Given the description of an element on the screen output the (x, y) to click on. 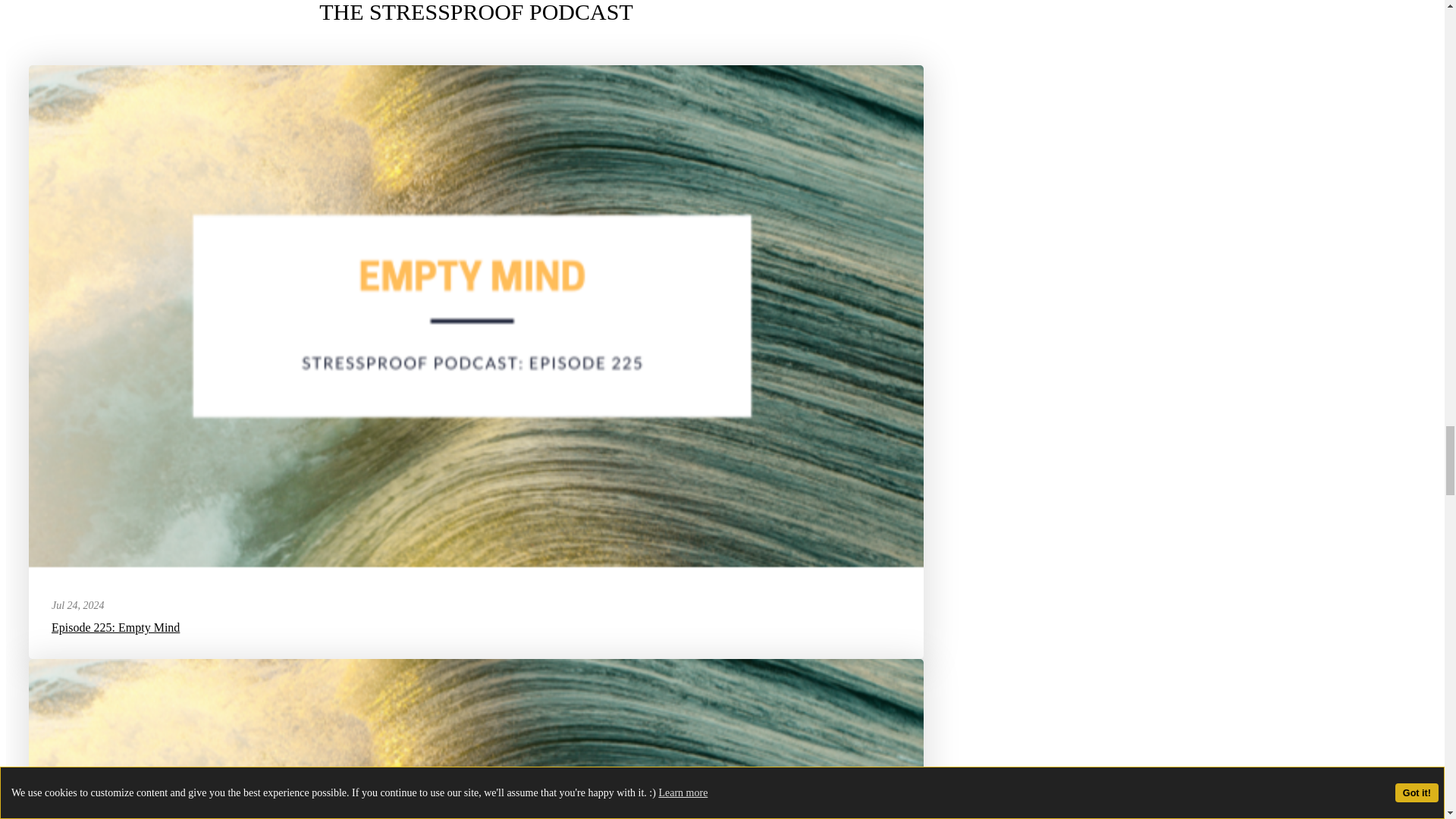
Episode 225: Empty Mind (114, 626)
